Given the description of an element on the screen output the (x, y) to click on. 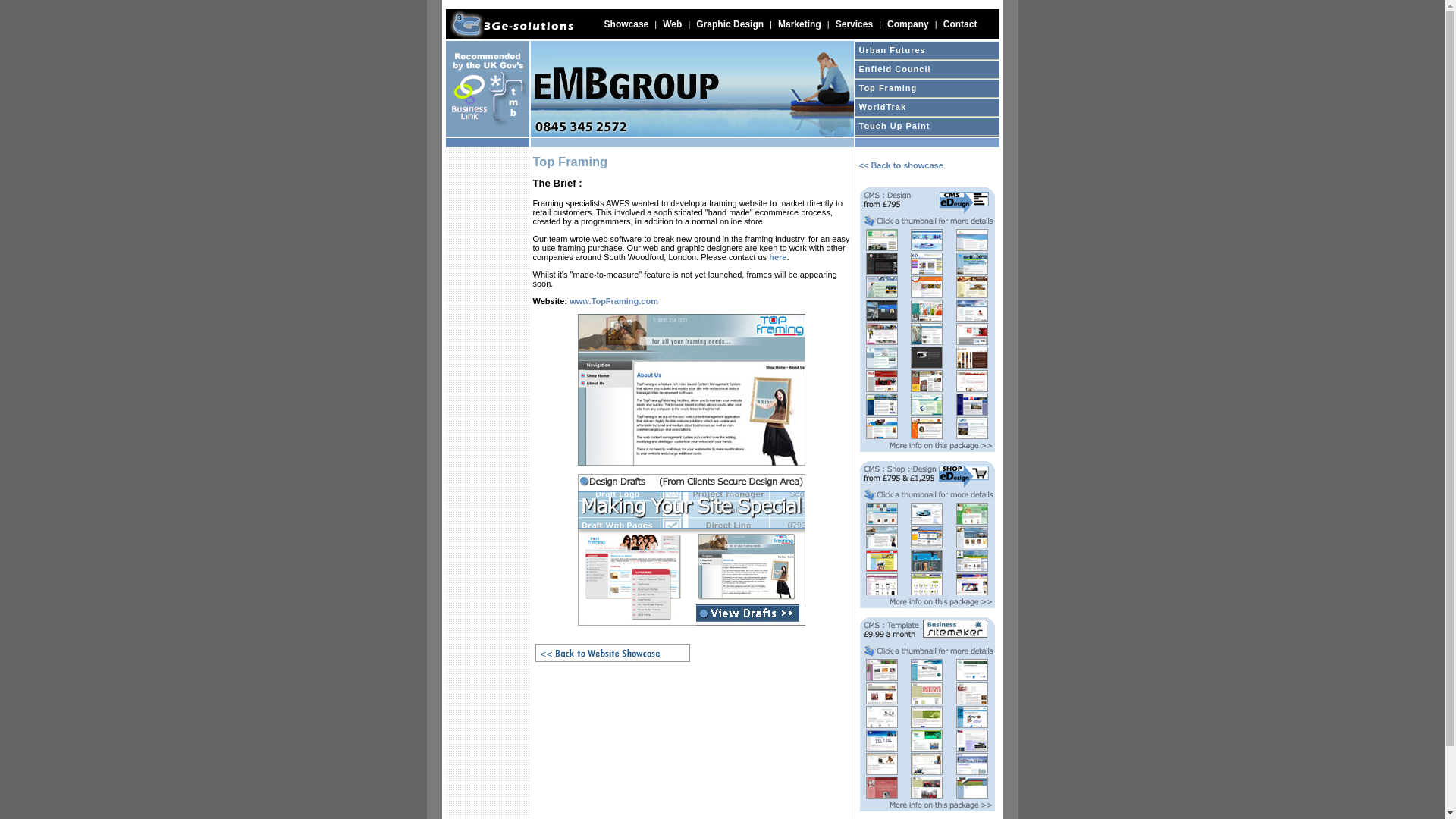
Graphic Design Element type: text (729, 23)
here Element type: text (777, 256)
Touch Up Paint Element type: text (927, 125)
Web Element type: text (671, 23)
Top Framing Element type: text (927, 87)
Enfield Council Element type: text (927, 68)
Showcase Element type: text (626, 23)
Urban Futures Element type: text (927, 49)
www.TopFraming.com Element type: text (613, 300)
<< Back to showcase Element type: text (901, 164)
Services Element type: text (853, 23)
Contact Element type: text (960, 23)
Marketing Element type: text (799, 23)
Company Element type: text (907, 23)
WorldTrak Element type: text (927, 106)
